Given the description of an element on the screen output the (x, y) to click on. 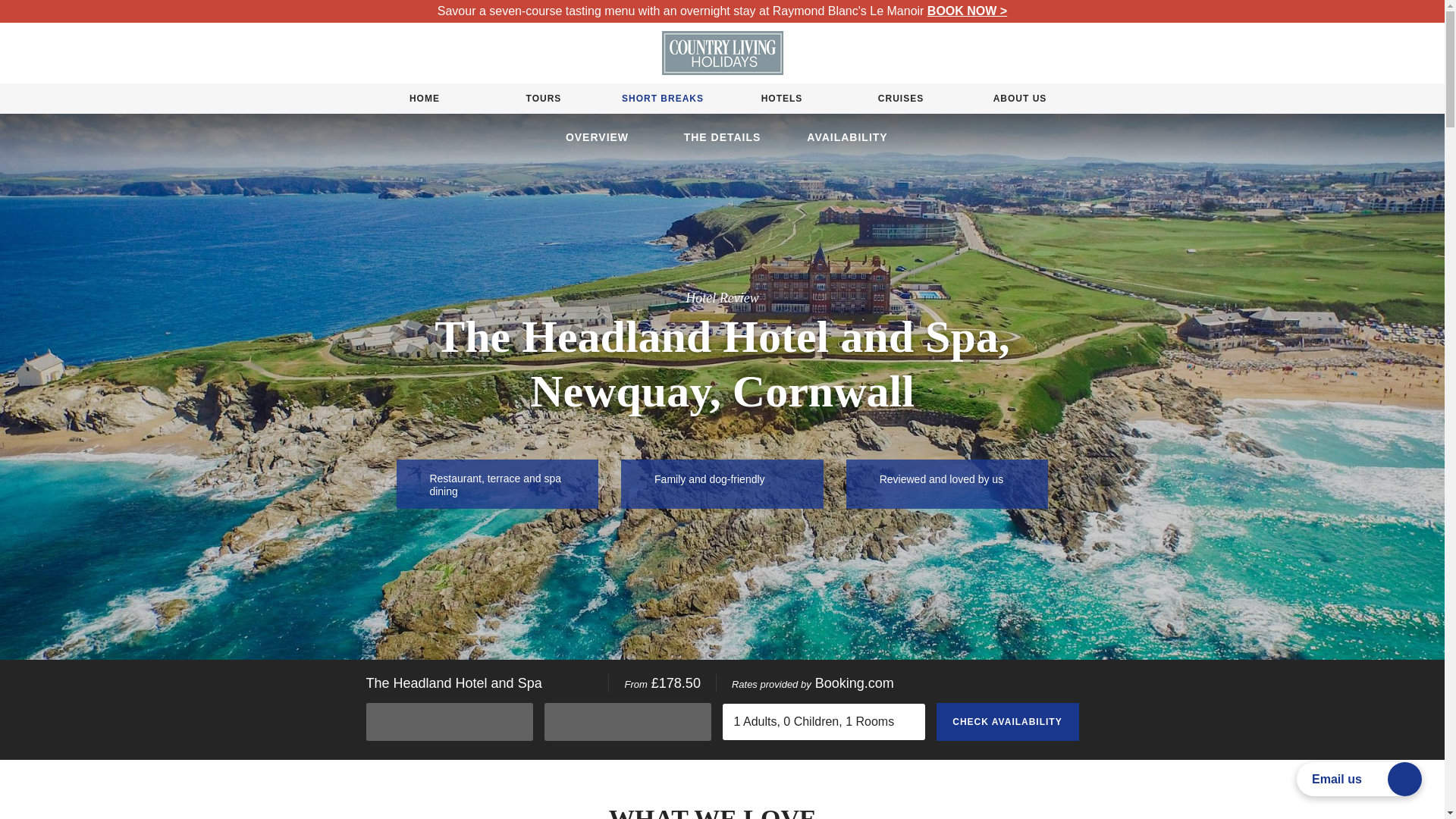
AVAILABILITY (847, 137)
HOME (424, 98)
1 Adults, 0 Children, 1 Rooms (823, 721)
OVERVIEW (596, 137)
ABOUT US (1020, 98)
SHORT BREAKS (662, 98)
CHECK AVAILABILITY (1007, 721)
TOURS (543, 98)
HOTELS (781, 98)
THE DETAILS (721, 137)
